Given the description of an element on the screen output the (x, y) to click on. 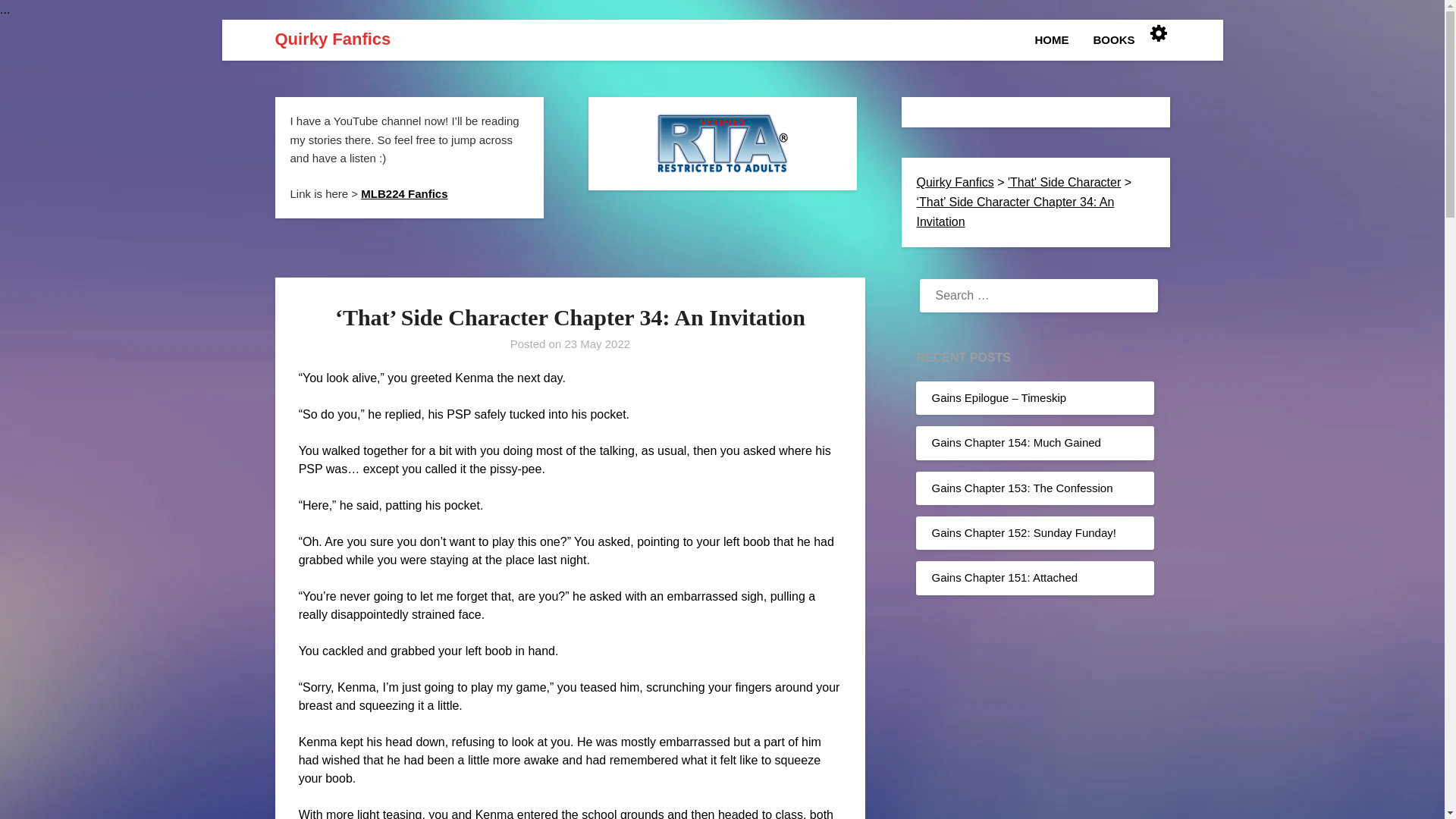
Gains Chapter 152: Sunday Funday! (1023, 532)
Gains Chapter 154: Much Gained (1015, 441)
'That' Side Character (1064, 182)
Go to the 'That' Side Character category archives. (1064, 182)
HOME (1056, 39)
Night Mode (1158, 33)
Quirky Fanfics (332, 39)
23 May 2022 (597, 343)
Quirky Fanfics (953, 182)
Gains Chapter 153: The Confession (1021, 487)
